Given the description of an element on the screen output the (x, y) to click on. 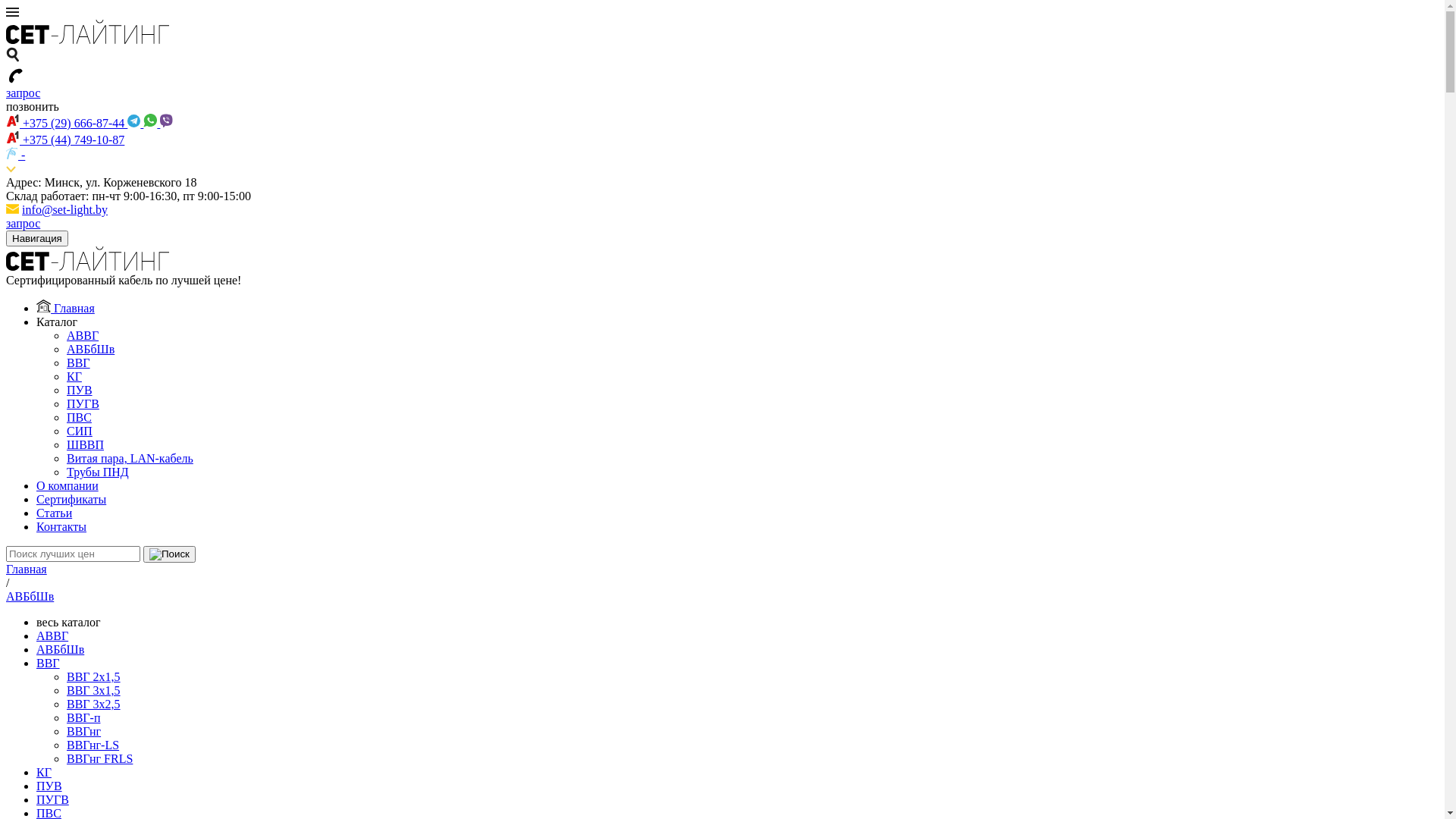
+375 (44) 749-10-87 Element type: text (65, 139)
- Element type: text (15, 154)
info@set-light.by Element type: text (64, 209)
image/svg+xml Element type: text (87, 39)
image/svg+xml Element type: text (87, 266)
+375 (29) 666-87-44 Element type: text (66, 122)
